Given the description of an element on the screen output the (x, y) to click on. 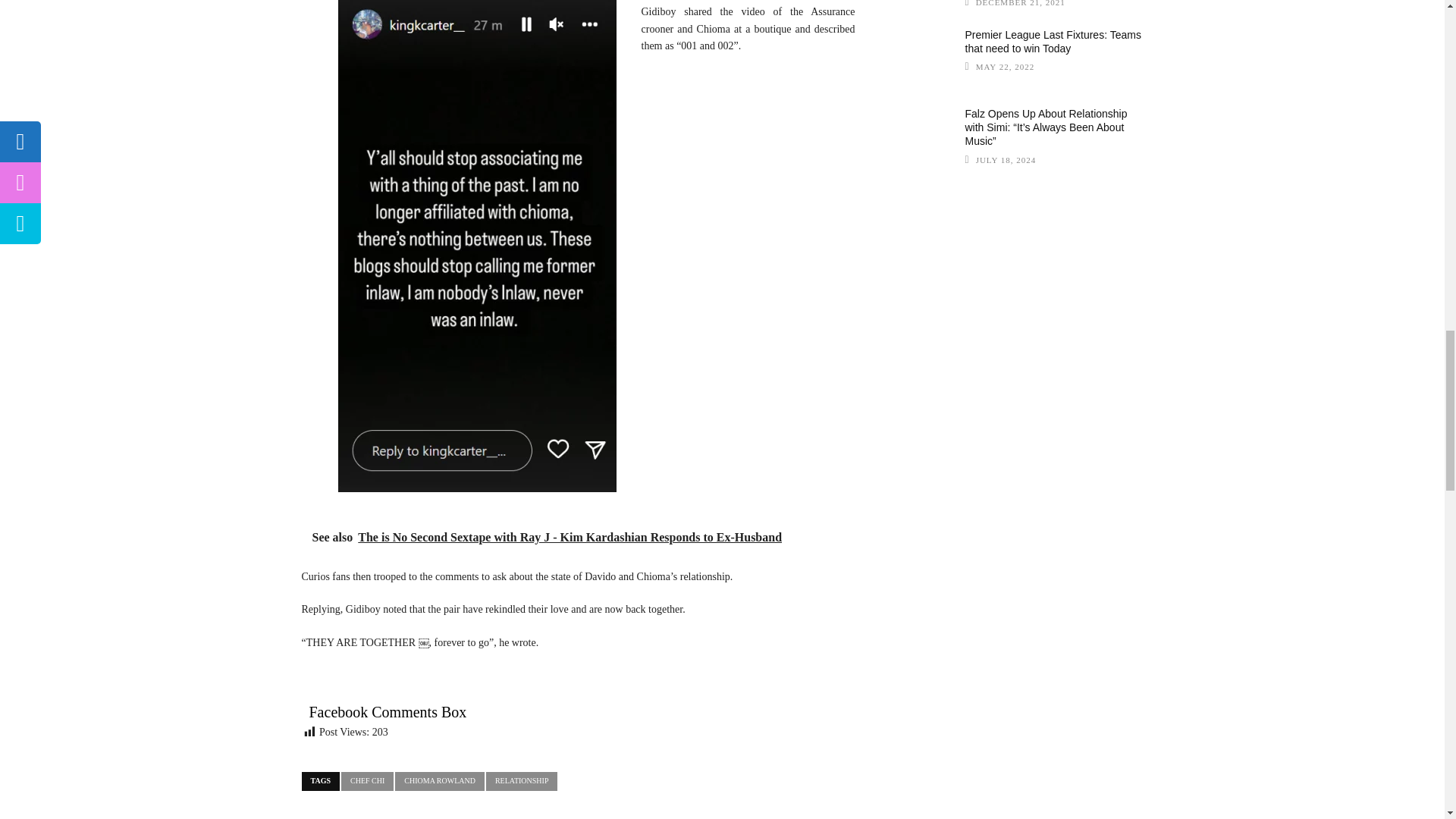
CHIOMA ROWLAND (439, 781)
View all posts tagged Chioma Rowland (439, 781)
View all posts tagged Relationship (521, 781)
RELATIONSHIP (521, 781)
CHEF CHI (366, 781)
View all posts tagged Chef Chi (366, 781)
